Given the description of an element on the screen output the (x, y) to click on. 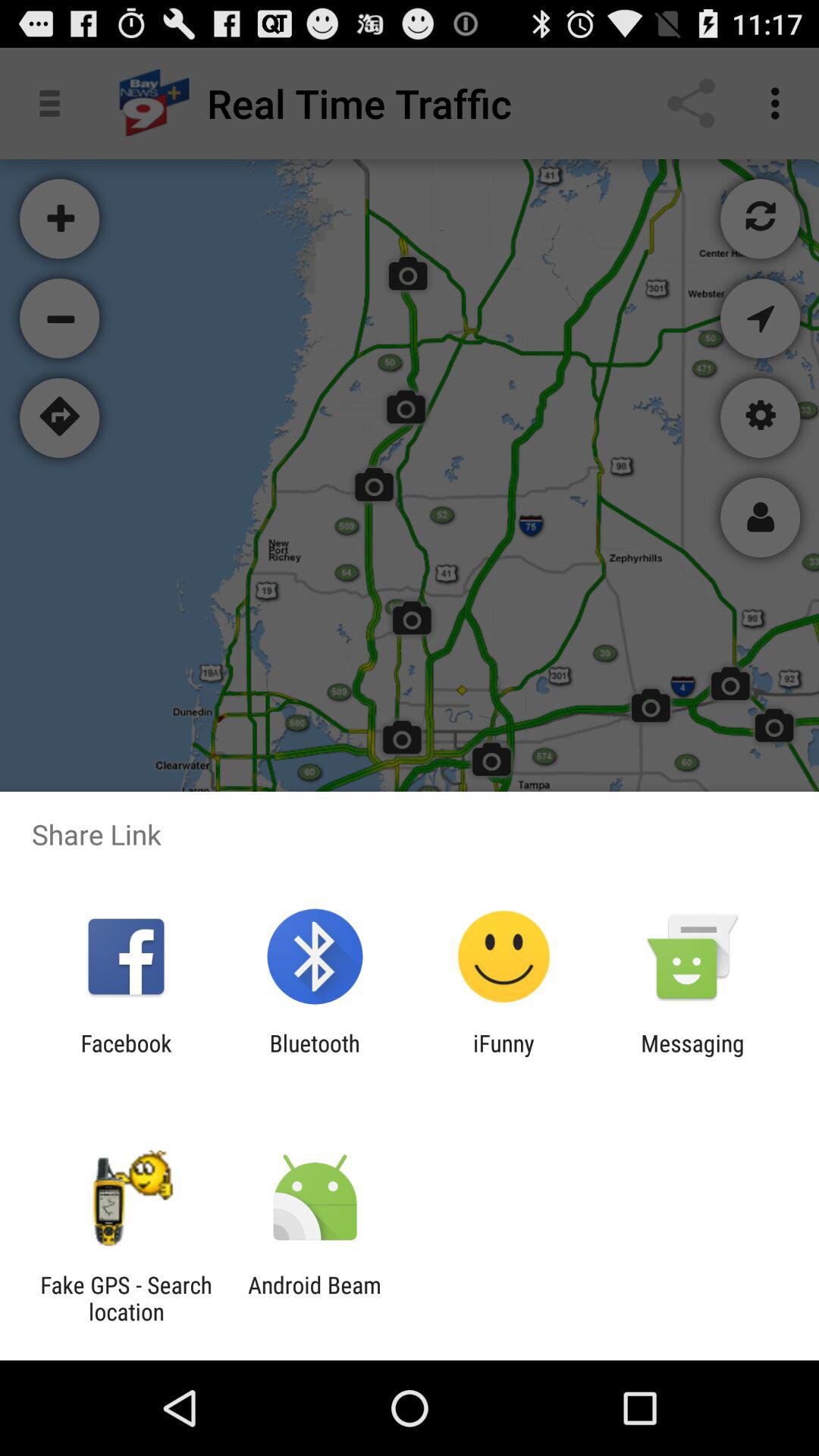
tap bluetooth (314, 1056)
